Given the description of an element on the screen output the (x, y) to click on. 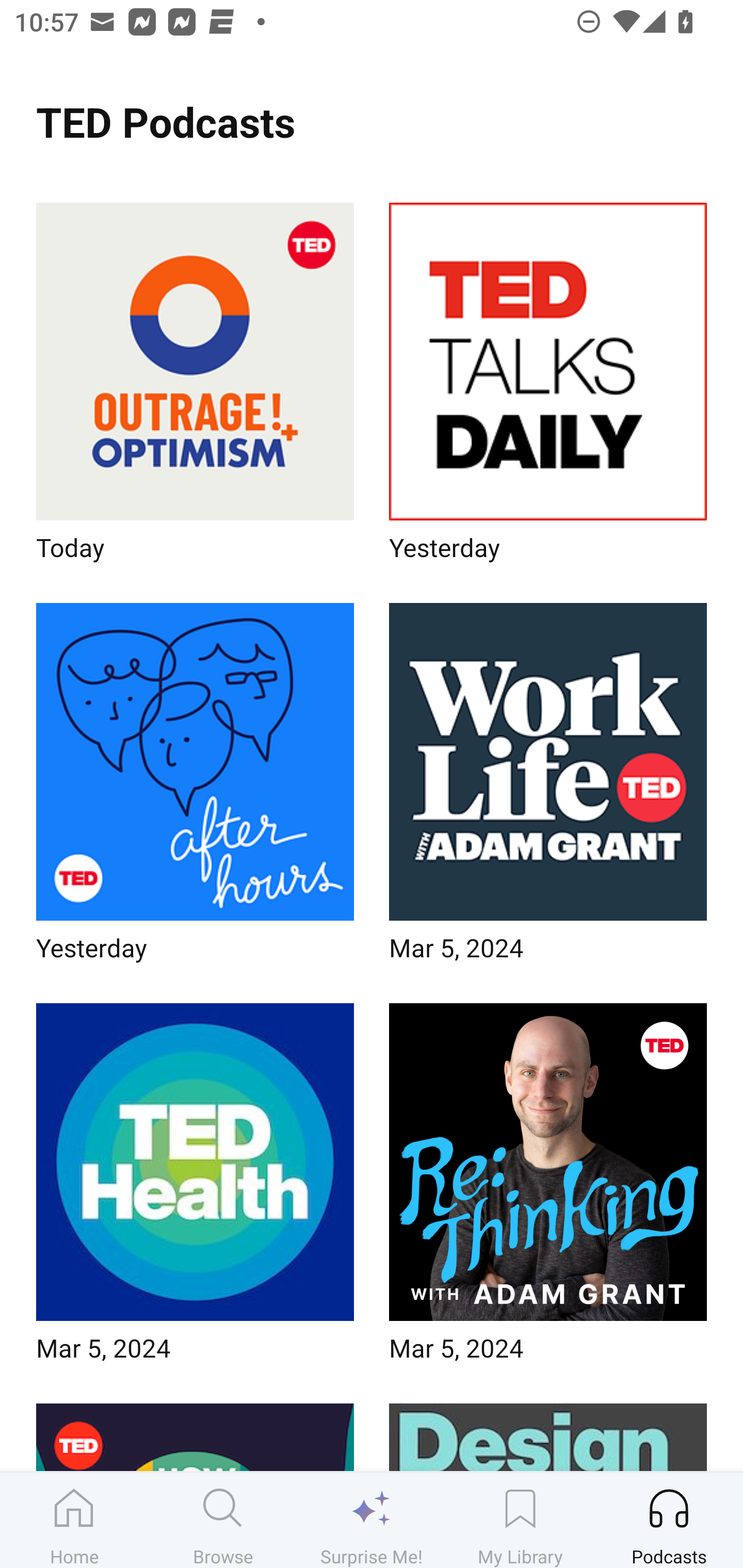
Today (194, 387)
Yesterday (547, 387)
Yesterday (194, 788)
Mar 5, 2024 (547, 788)
Mar 5, 2024 (194, 1189)
Mar 5, 2024 (547, 1189)
Home (74, 1520)
Browse (222, 1520)
Surprise Me! (371, 1520)
My Library (519, 1520)
Podcasts (668, 1520)
